Given the description of an element on the screen output the (x, y) to click on. 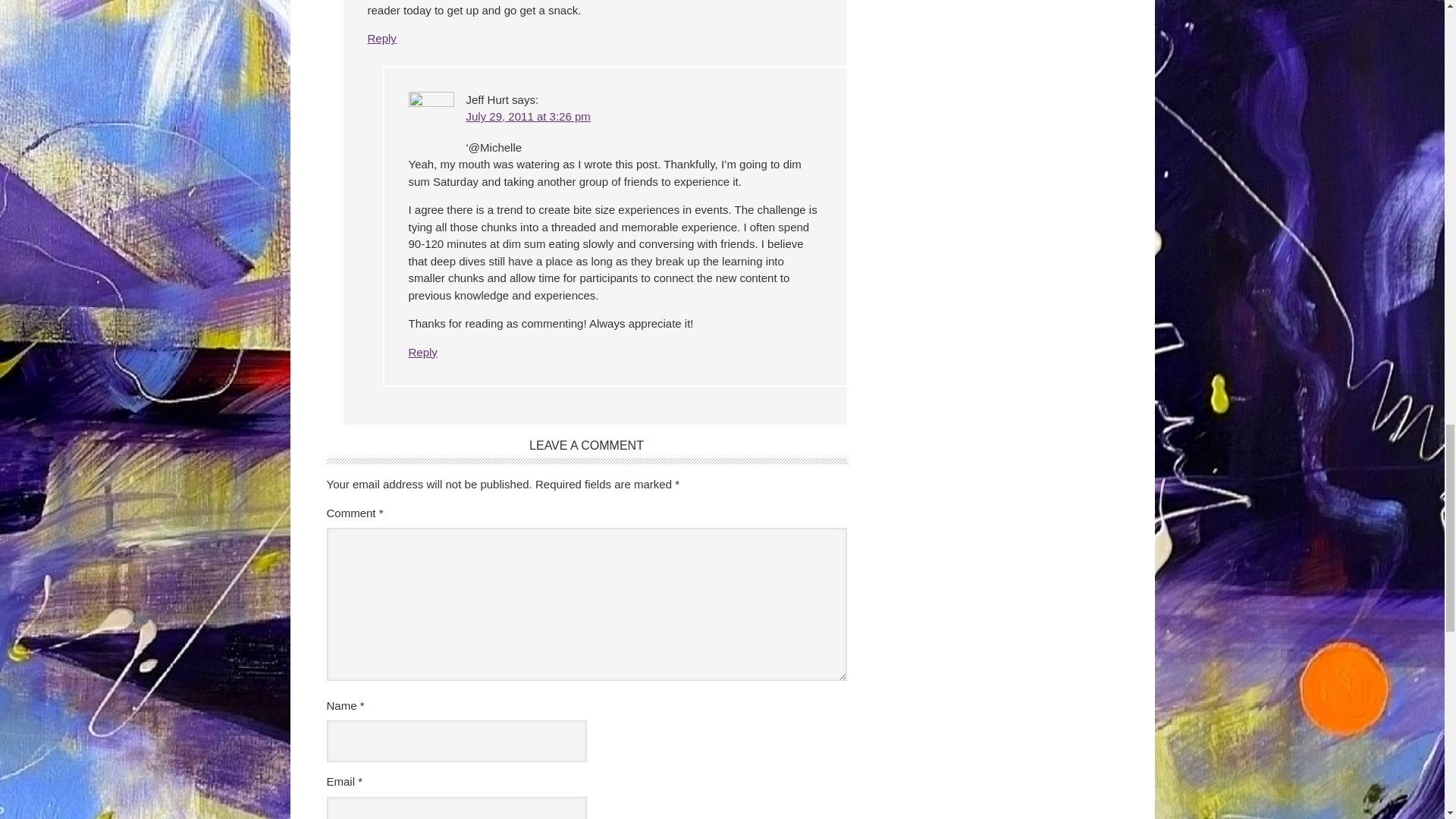
Reply (421, 351)
Reply (381, 38)
July 29, 2011 at 3:26 pm (527, 115)
